Given the description of an element on the screen output the (x, y) to click on. 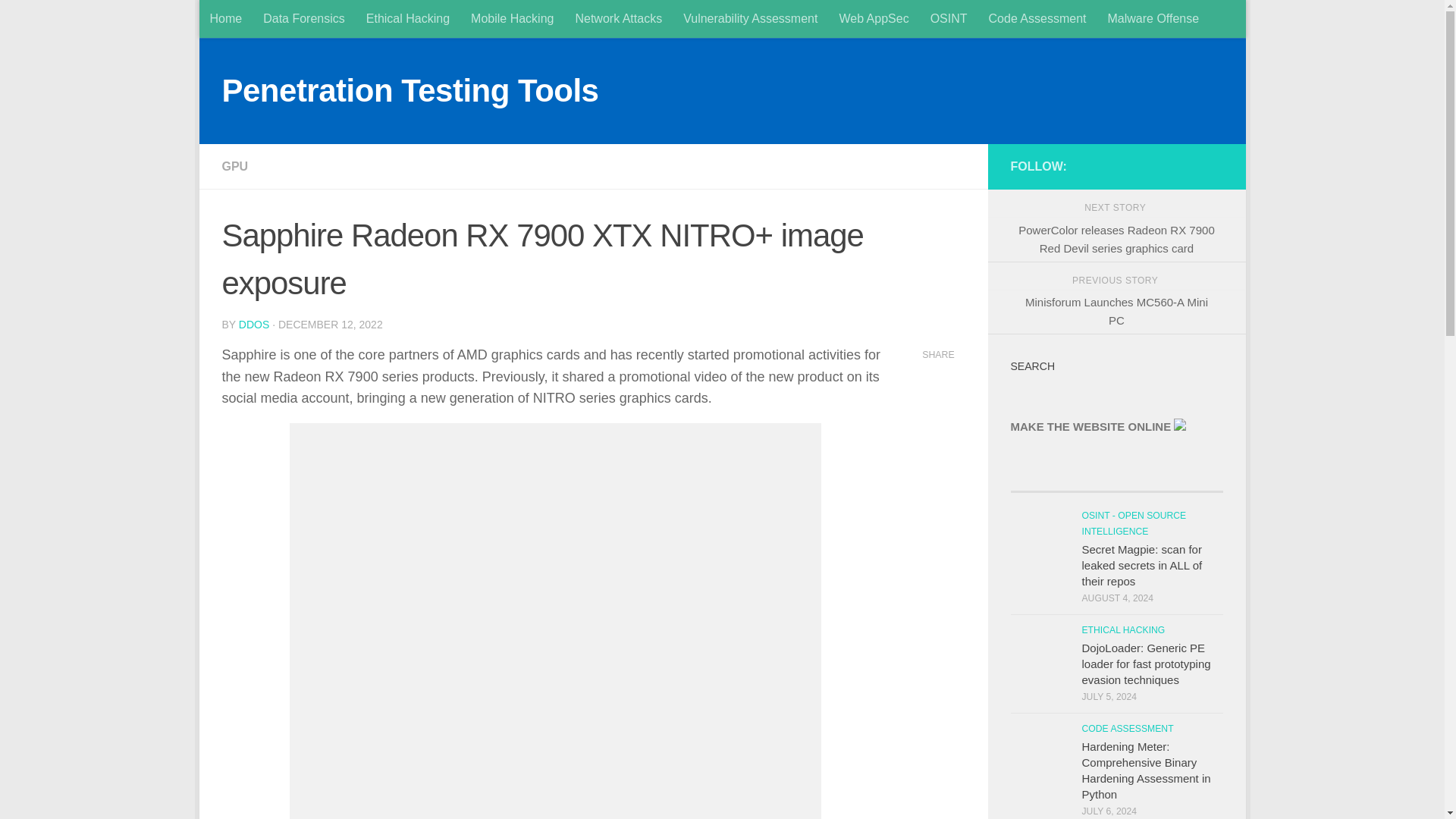
Data Forensics (303, 18)
Code Assessment (1037, 18)
Mobile Hacking (512, 18)
Network Attacks (618, 18)
Home (224, 18)
Skip to content (263, 20)
OSINT (949, 18)
Tags (1169, 485)
Popular Posts (1063, 485)
Web AppSec (873, 18)
Posts by ddos (253, 324)
Malware Offense (1152, 18)
Vulnerability Assessment (750, 18)
Ethical Hacking (407, 18)
